Given the description of an element on the screen output the (x, y) to click on. 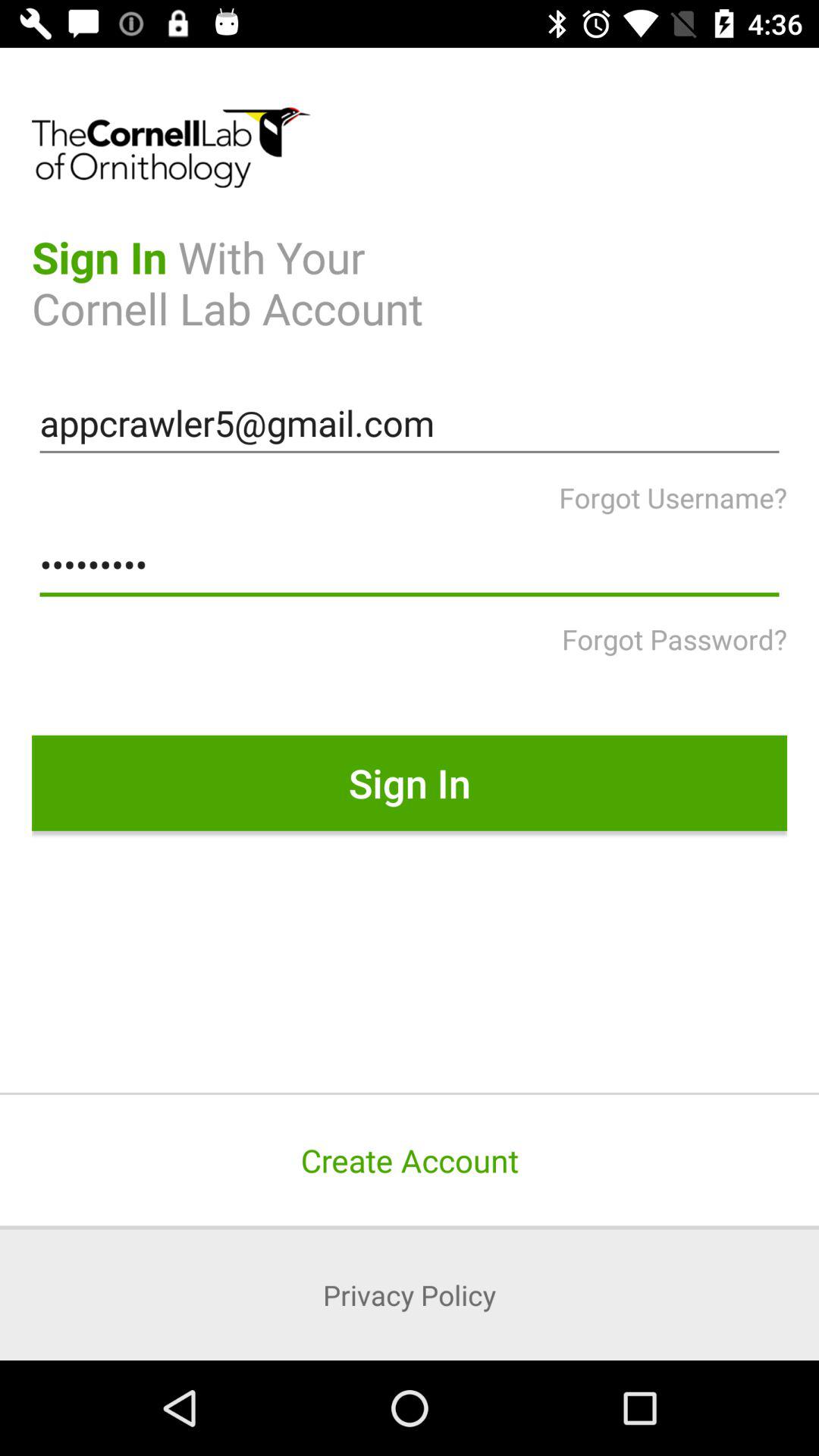
tap crowd3116 (409, 565)
